Given the description of an element on the screen output the (x, y) to click on. 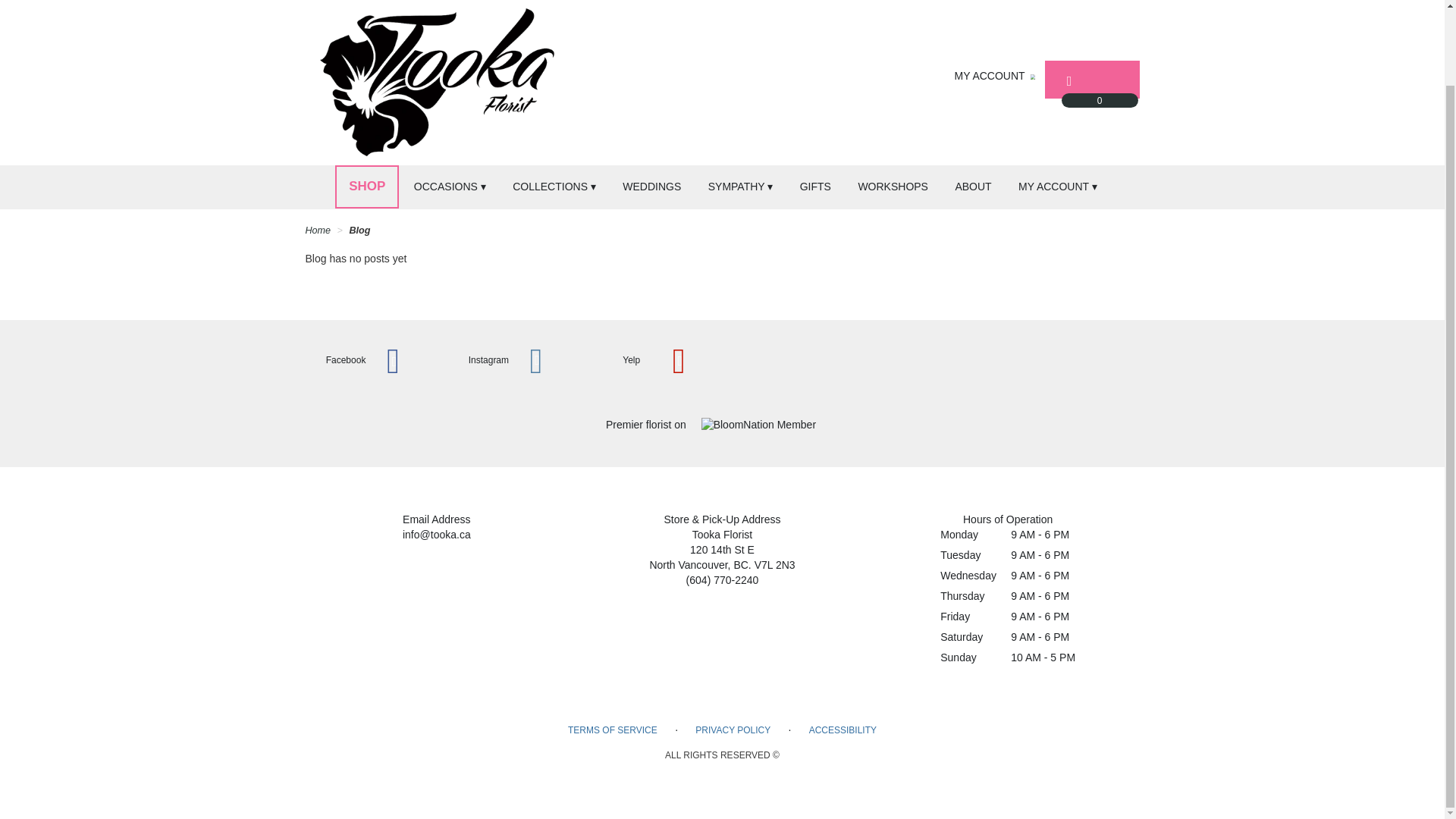
Go to Home Page (317, 230)
MY ACCOUNT (995, 76)
